Given the description of an element on the screen output the (x, y) to click on. 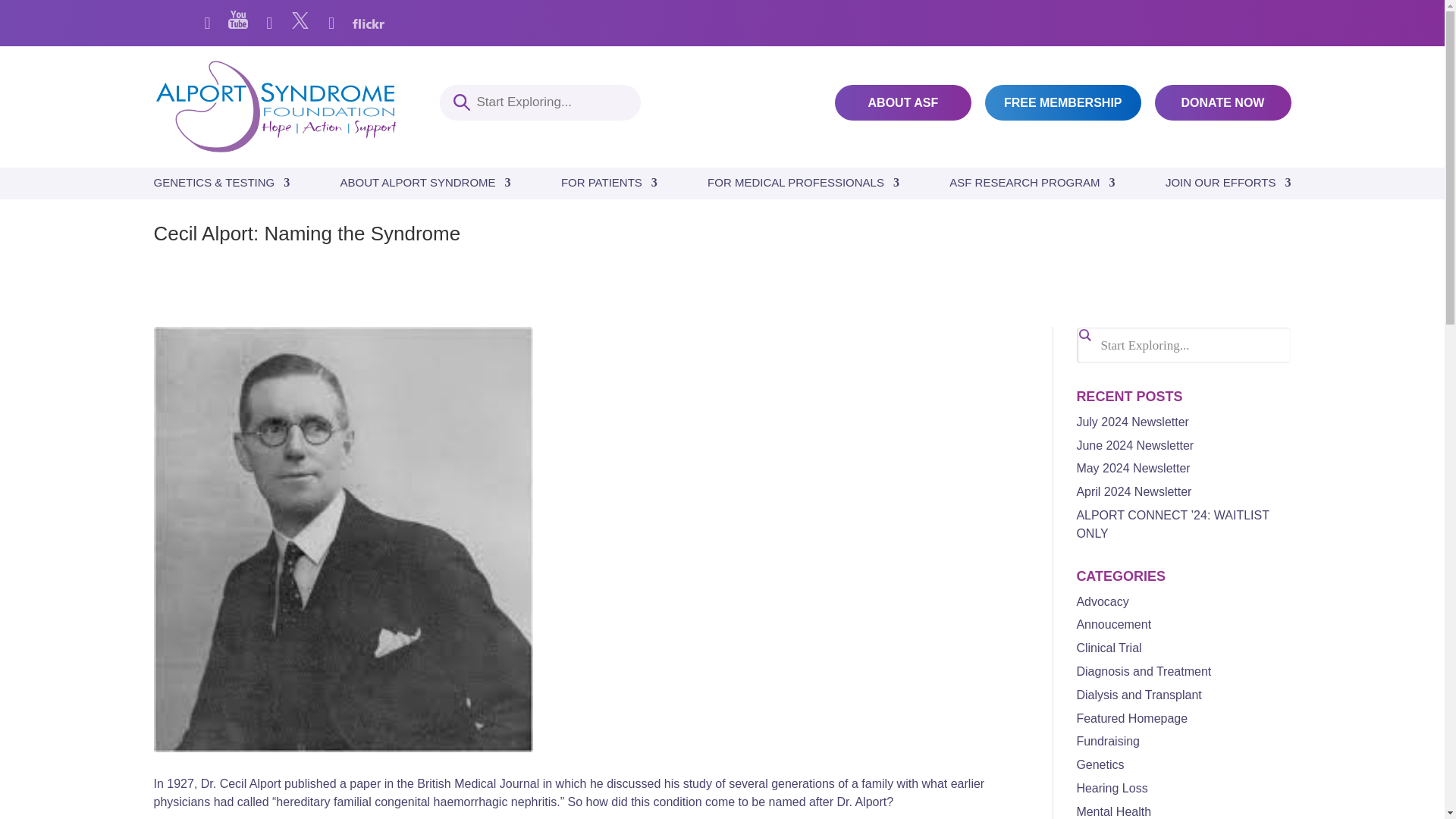
DONATE NOW (1222, 102)
ABOUT ALPORT SYNDROME (425, 187)
ABOUT ASF (902, 102)
FREE MEMBERSHIP (1063, 102)
